Given the description of an element on the screen output the (x, y) to click on. 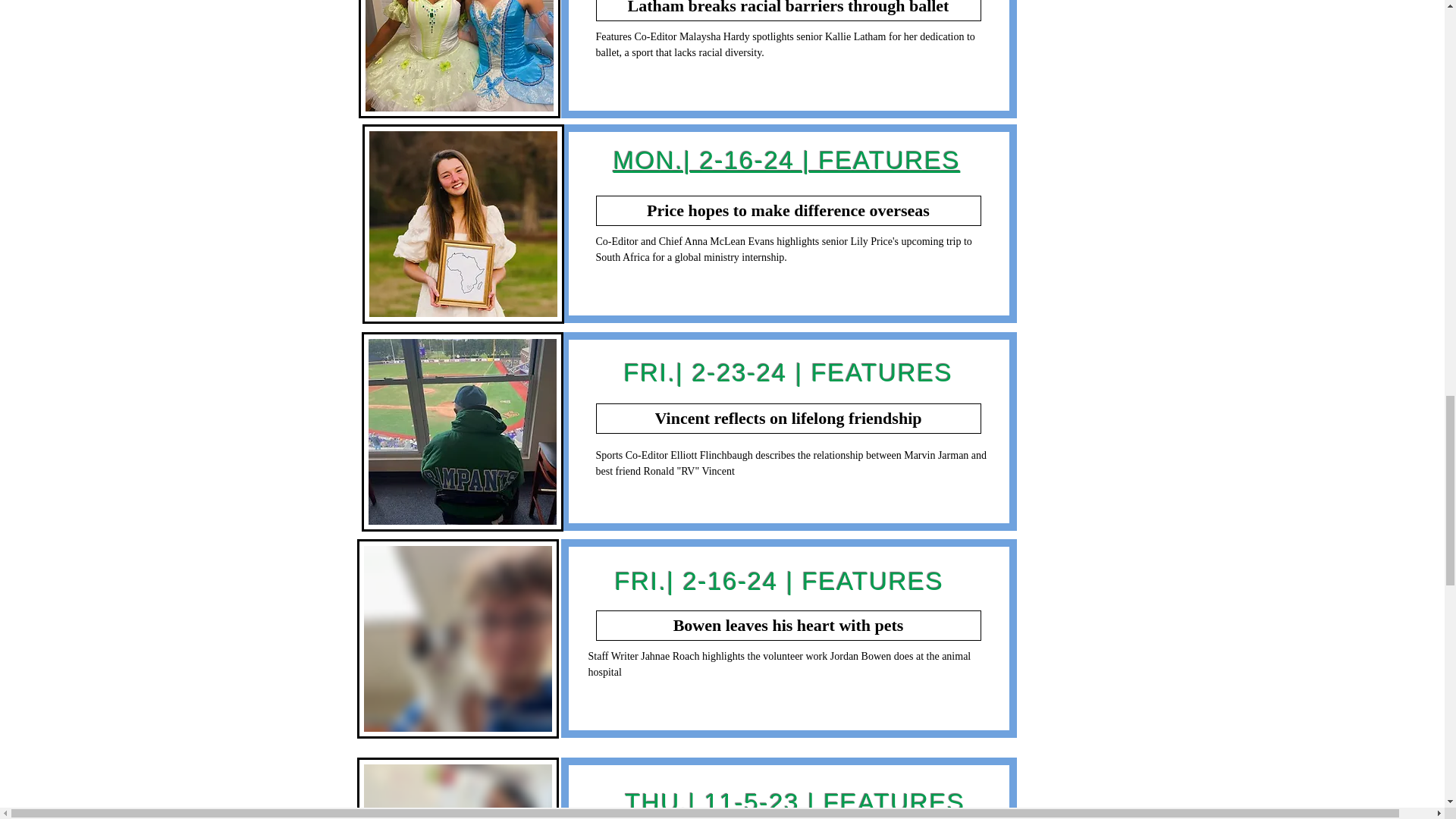
Price hopes to make difference overseas (788, 210)
Vincent reflects on lifelong friendship (788, 418)
Bowen leaves his heart with pets (788, 625)
Latham breaks racial barriers through ballet (788, 10)
